Given the description of an element on the screen output the (x, y) to click on. 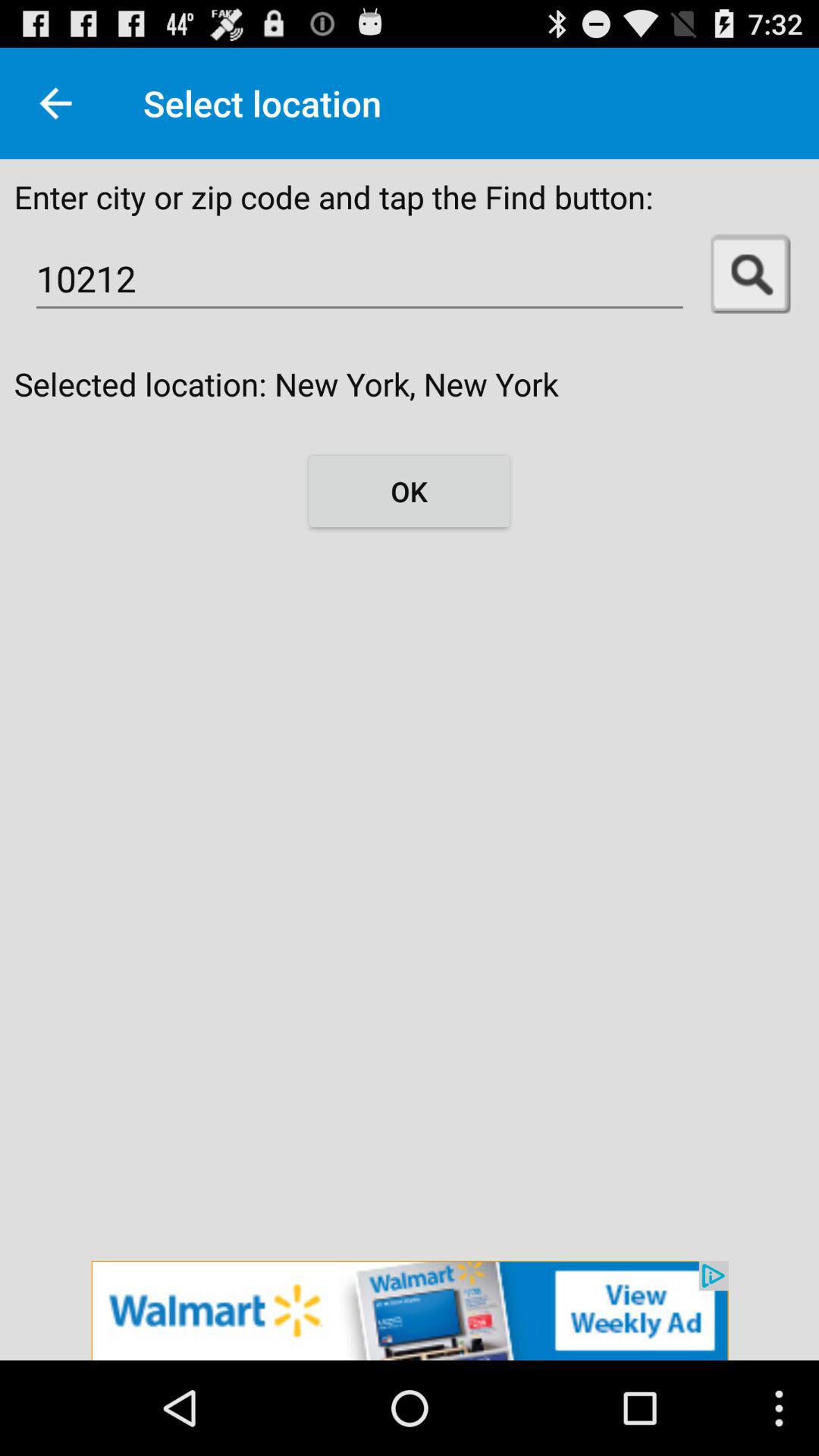
search button (750, 273)
